Given the description of an element on the screen output the (x, y) to click on. 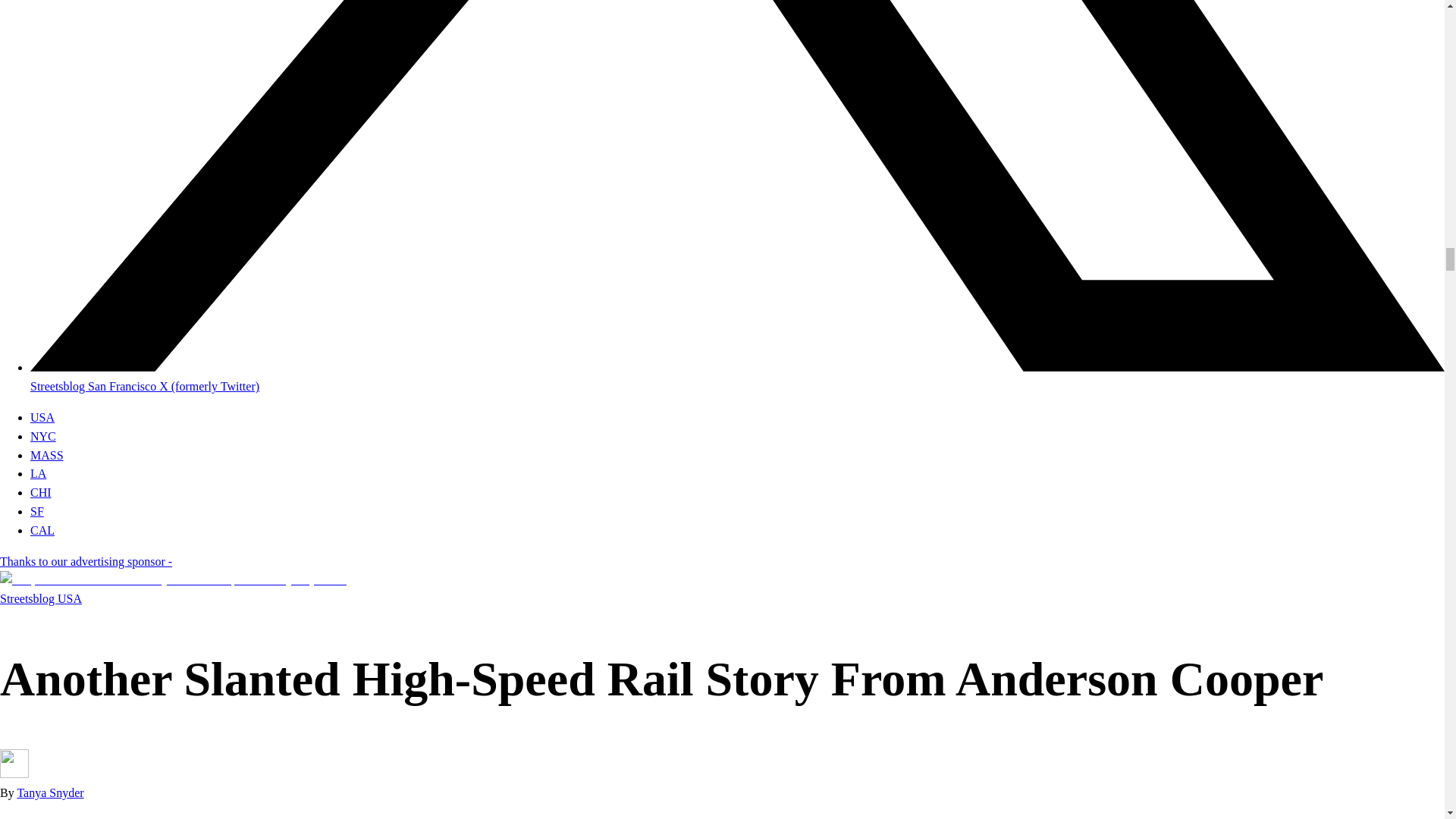
Streetsblog USA (40, 598)
LA (38, 472)
USA (42, 417)
MASS (47, 454)
CAL (42, 530)
CHI (40, 492)
SF (36, 511)
NYC (43, 436)
Tanya Snyder (49, 792)
